Given the description of an element on the screen output the (x, y) to click on. 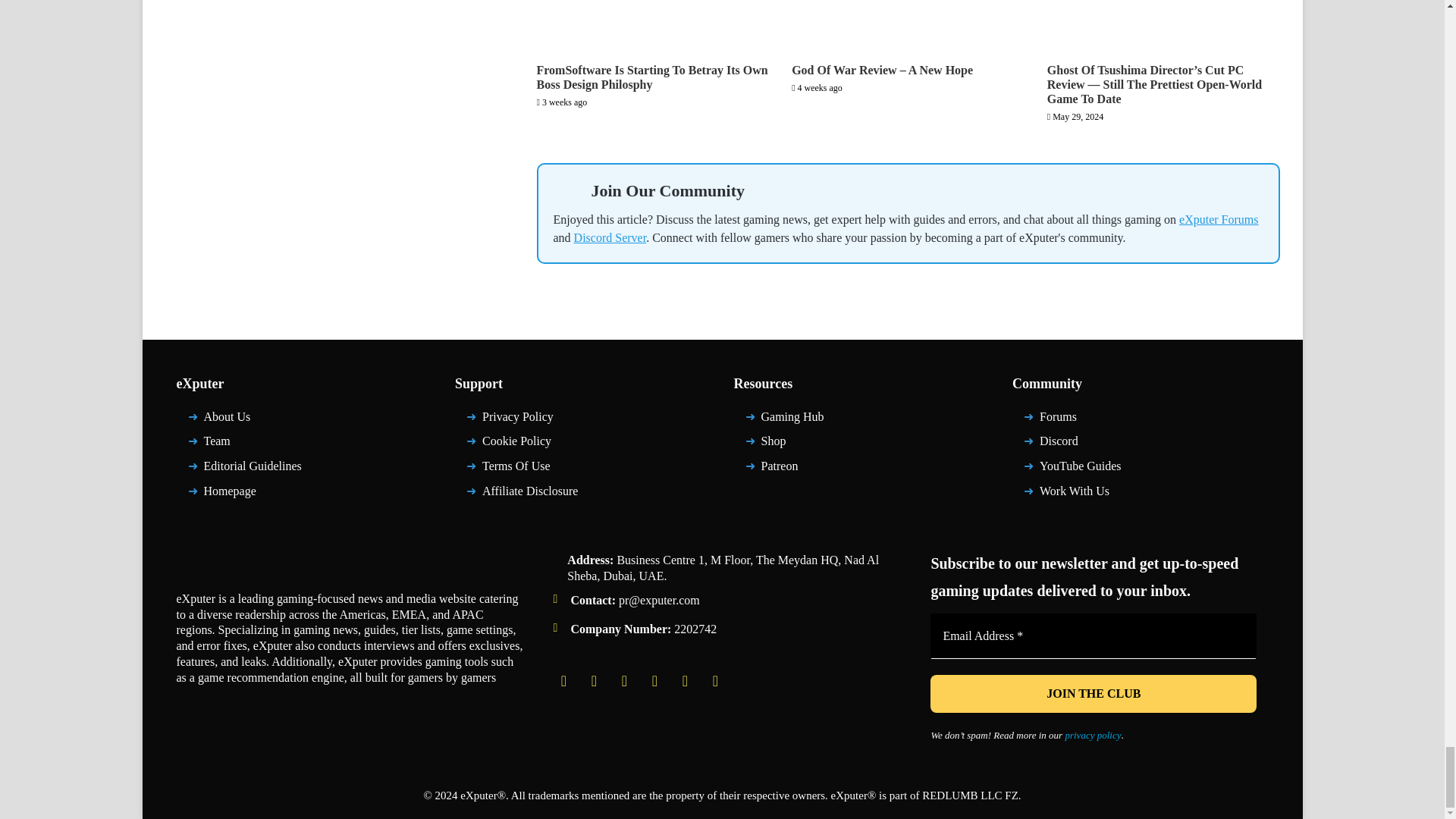
JOIN THE  CLUB (1093, 693)
